Given the description of an element on the screen output the (x, y) to click on. 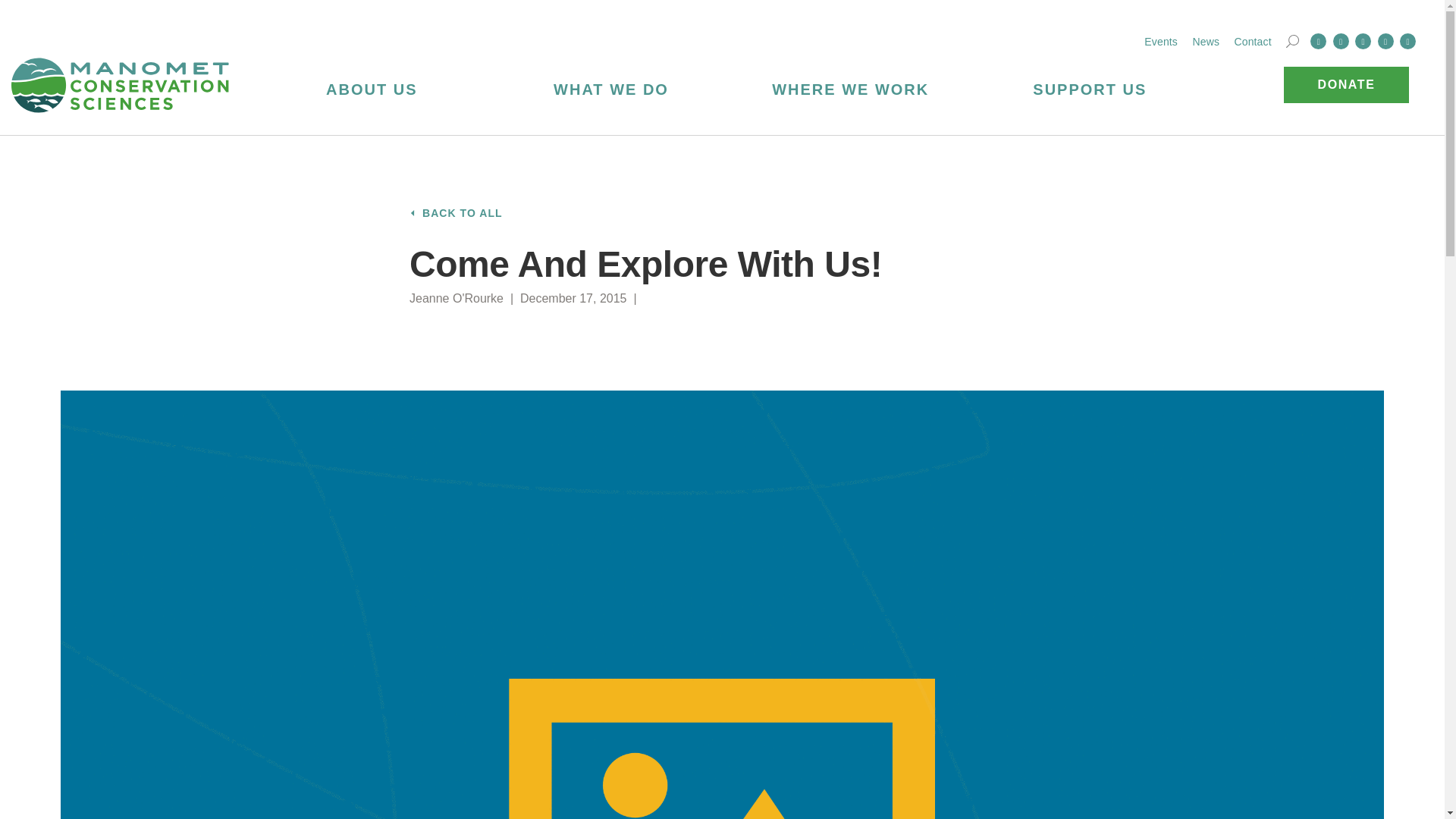
Manomet (120, 85)
Events (1160, 41)
YouTube (1407, 41)
Facebook (1318, 41)
Twitter (1341, 41)
Linkedin (1363, 41)
ABOUT US (371, 87)
Search (1291, 41)
WHERE WE WORK (850, 87)
News (1206, 41)
